Given the description of an element on the screen output the (x, y) to click on. 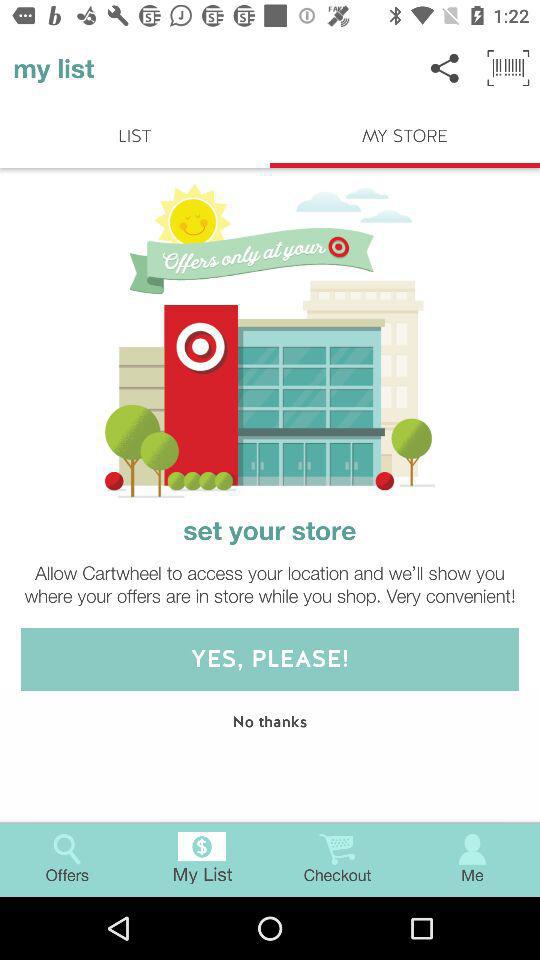
click on the button next to share (508, 68)
select the button which is in between my list and me (337, 859)
click on the icon which is at bottom right of the page (472, 849)
select image (269, 341)
click on yes please (269, 659)
